Given the description of an element on the screen output the (x, y) to click on. 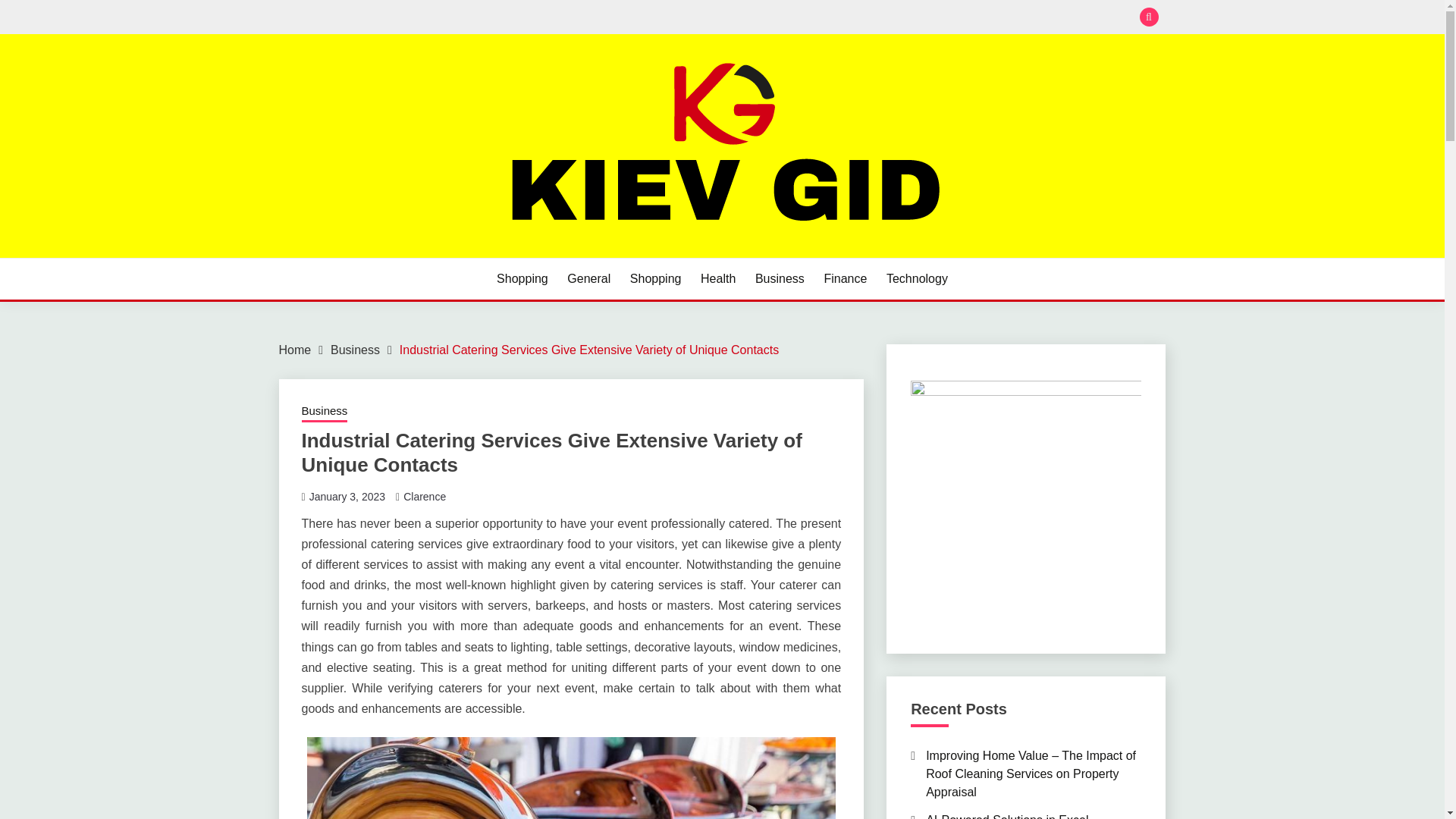
Clarence (424, 495)
Business (324, 412)
Technology (916, 279)
Health (717, 279)
Shopping (655, 279)
Home (295, 349)
January 3, 2023 (346, 495)
General (588, 279)
Business (780, 279)
Finance (845, 279)
Business (355, 349)
Search (832, 18)
KIEV GID (340, 255)
Shopping (522, 279)
